Given the description of an element on the screen output the (x, y) to click on. 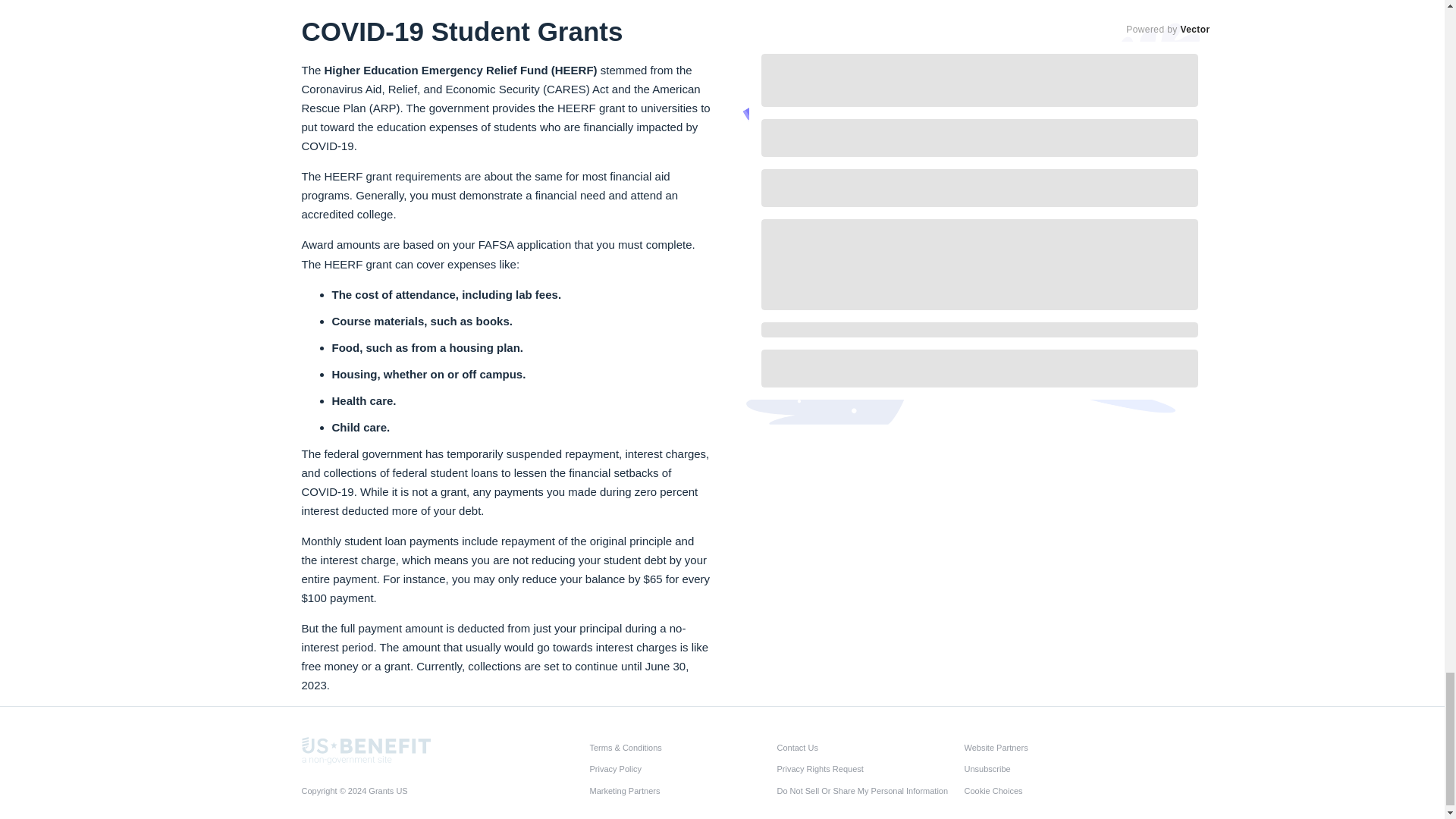
Cookie Choices (1052, 789)
Do Not Sell Or Share My Personal Information (865, 789)
Contact Us (865, 747)
Cookie Choices (1052, 789)
Privacy Rights Request (865, 768)
Unsubscribe (1052, 768)
Privacy Policy (678, 768)
Website Partners (1052, 747)
Do Not Sell Or Share My Personal Information (865, 789)
Privacy Policy (678, 768)
